Given the description of an element on the screen output the (x, y) to click on. 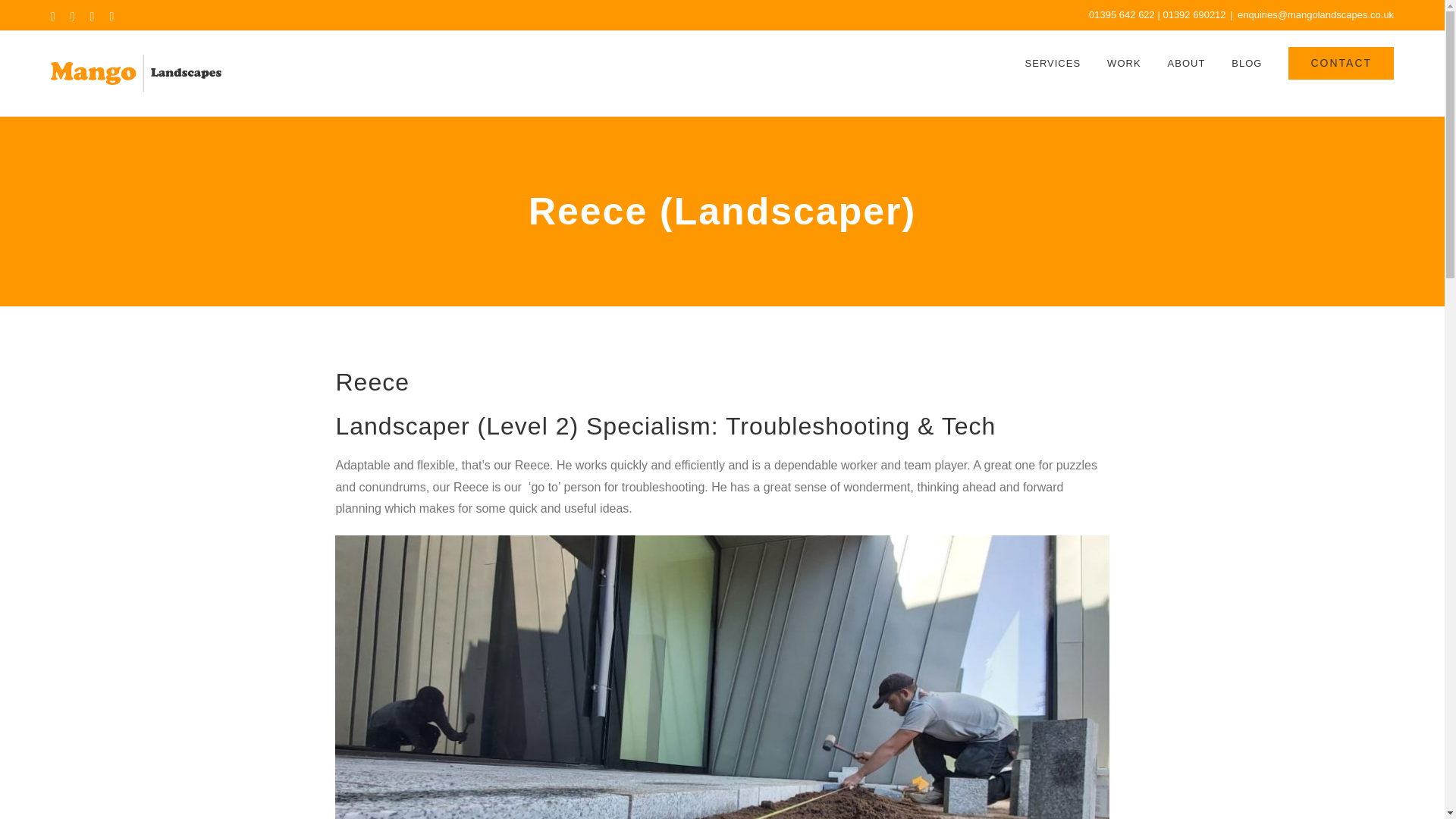
CONTACT (1340, 63)
